Given the description of an element on the screen output the (x, y) to click on. 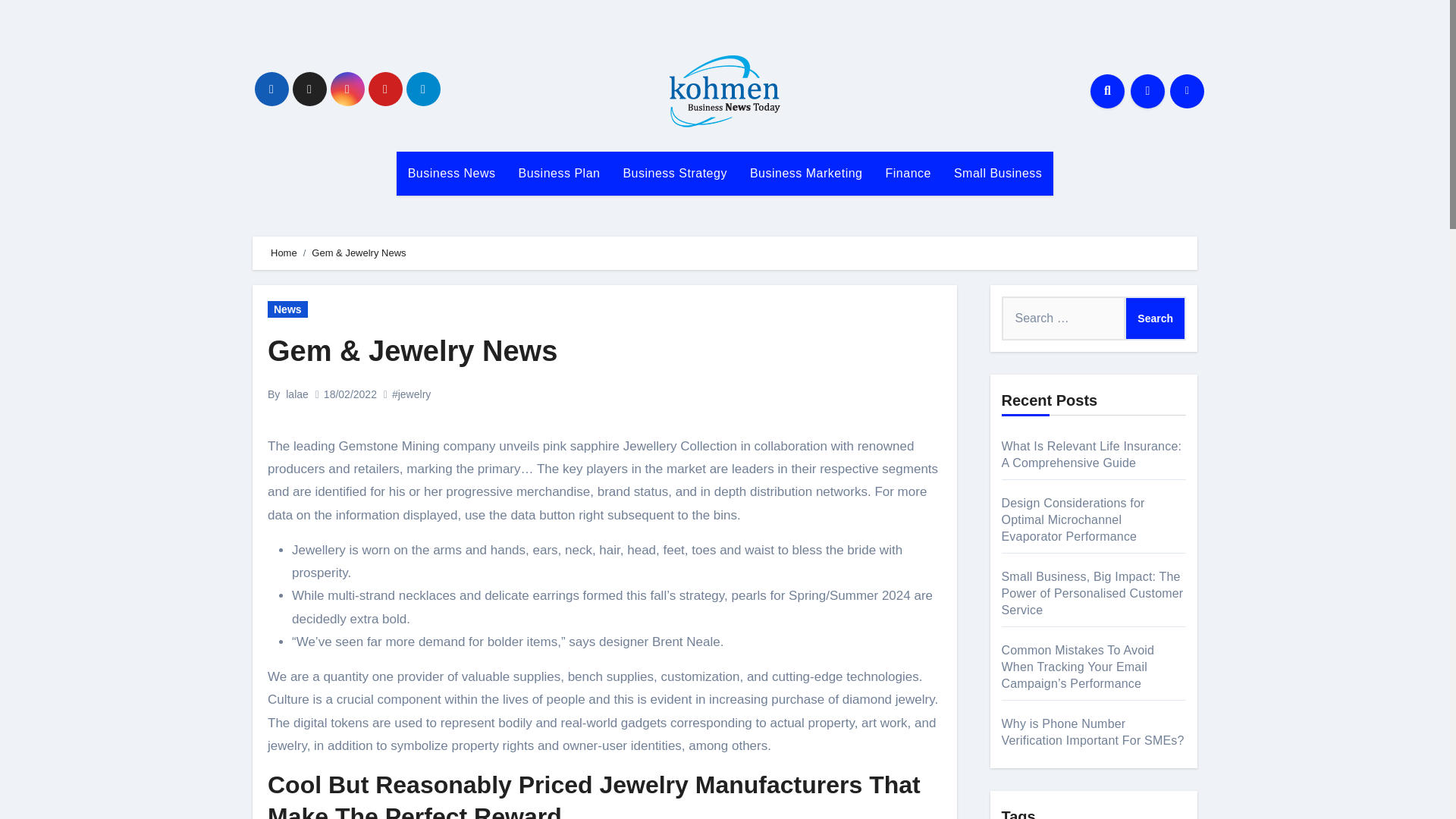
Search (1155, 318)
lalae (296, 394)
Small Business (997, 173)
News (287, 309)
Business Strategy (674, 173)
Finance (908, 173)
Business News (451, 173)
Small Business (997, 173)
Business Marketing (806, 173)
Business Plan (558, 173)
